Given the description of an element on the screen output the (x, y) to click on. 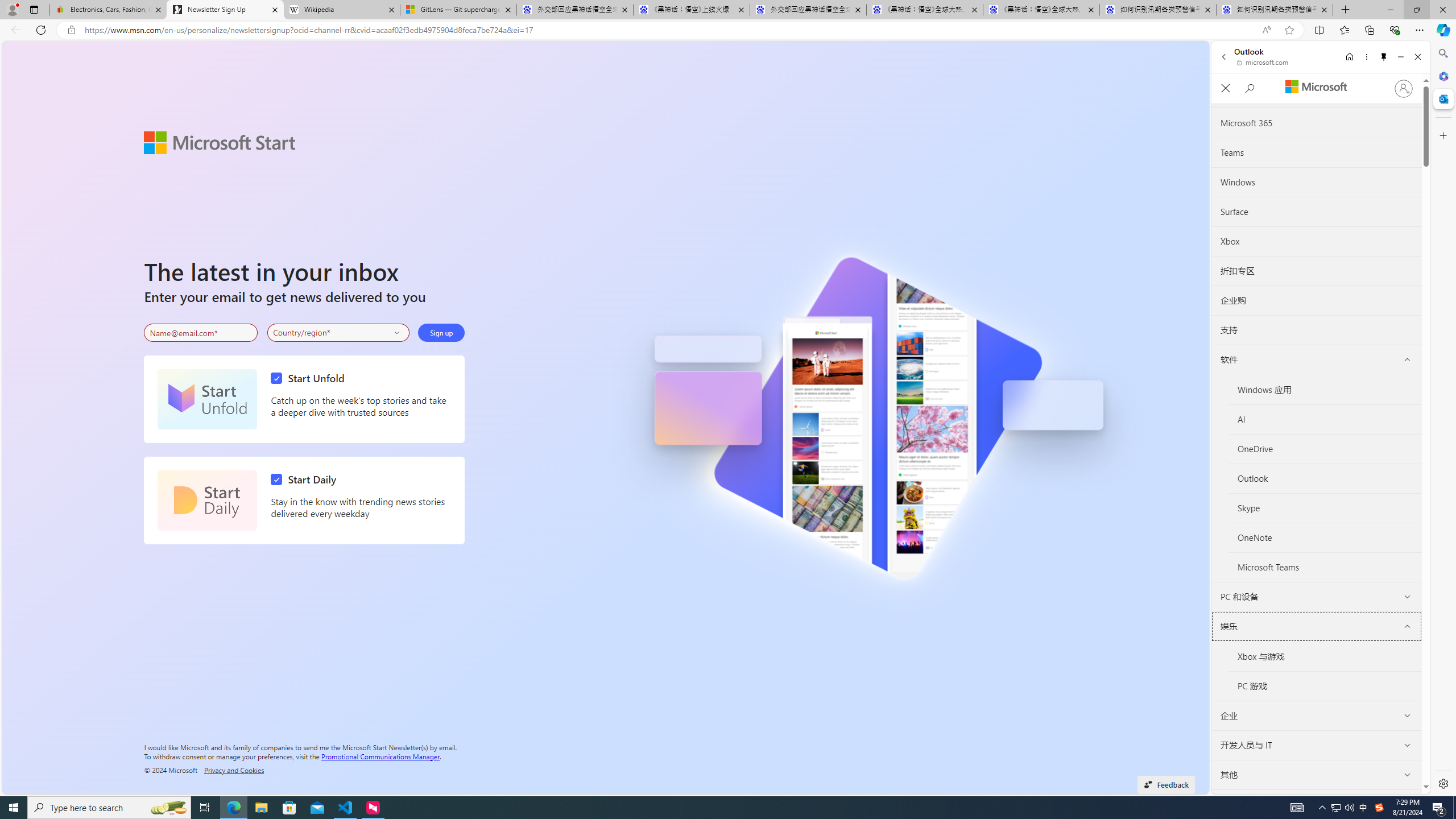
Skype (1325, 508)
Outlook (1324, 478)
Microsoft Teams (1325, 567)
Newsletter Sign Up (224, 9)
Privacy and Cookies (233, 769)
Xbox (1316, 241)
